Given the description of an element on the screen output the (x, y) to click on. 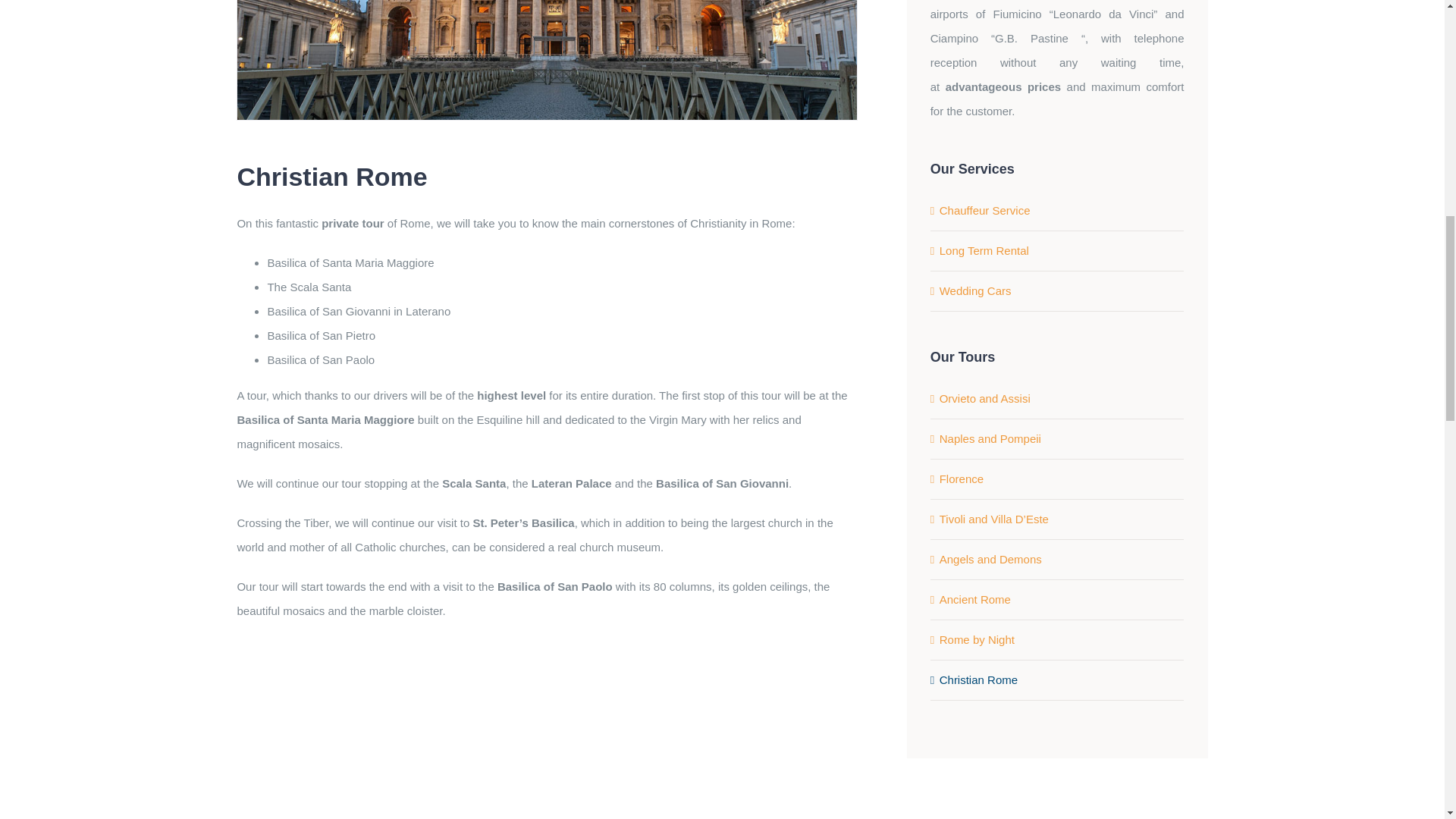
Long Term Rental (984, 250)
Wedding Cars (975, 290)
Florence (961, 478)
Orvieto and Assisi (984, 398)
Naples and Pompeii (990, 438)
Angels and Demons (990, 558)
Chauffeur Service (984, 210)
